Given the description of an element on the screen output the (x, y) to click on. 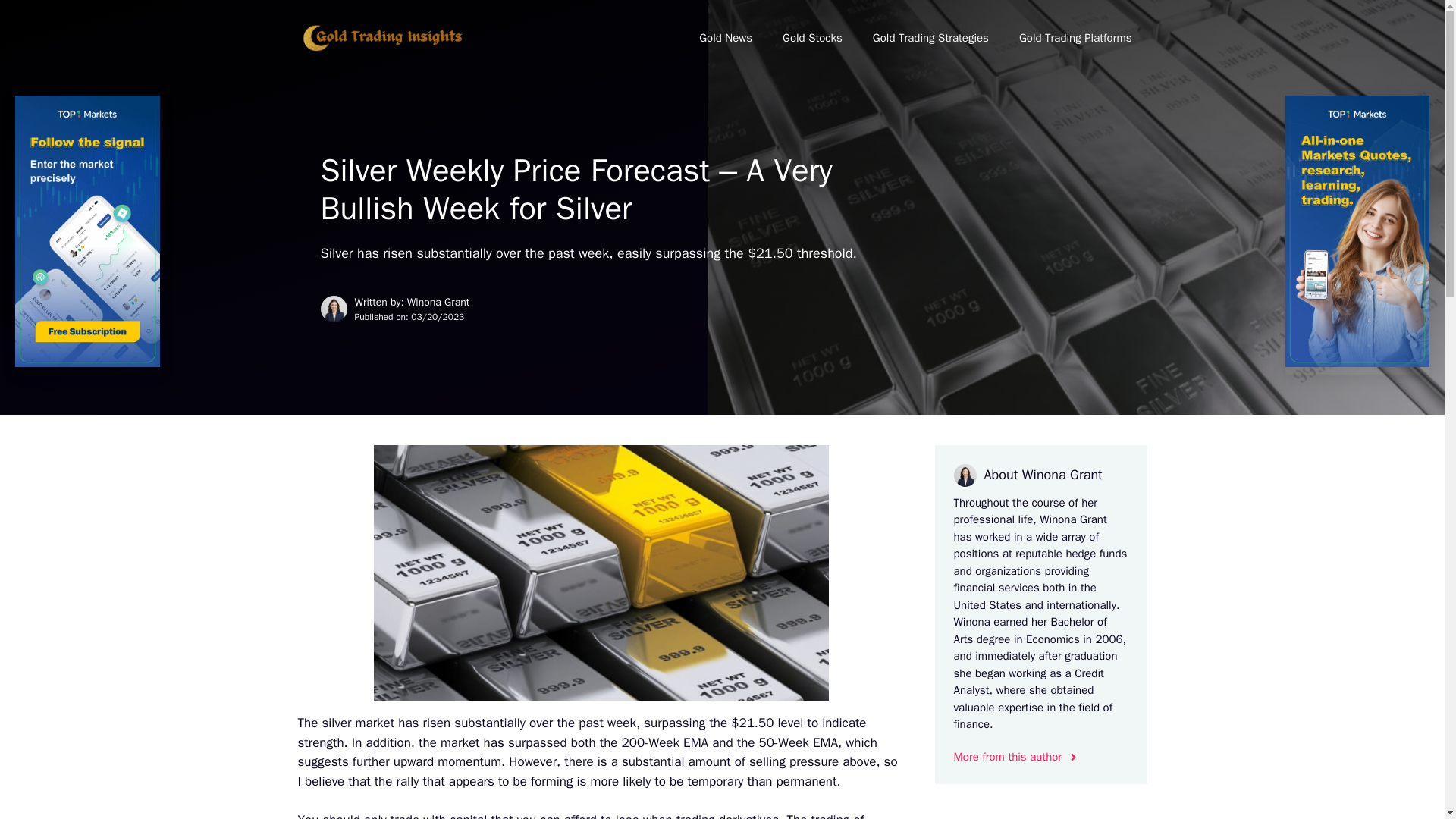
Gold Trading Strategies (930, 37)
silver market (357, 722)
Gold Stocks (812, 37)
Gold Trading Insights (380, 36)
More from this author (1015, 756)
Gold Trading Platforms (1075, 37)
Gold Trading Insights (380, 38)
Gold News (725, 37)
